Given the description of an element on the screen output the (x, y) to click on. 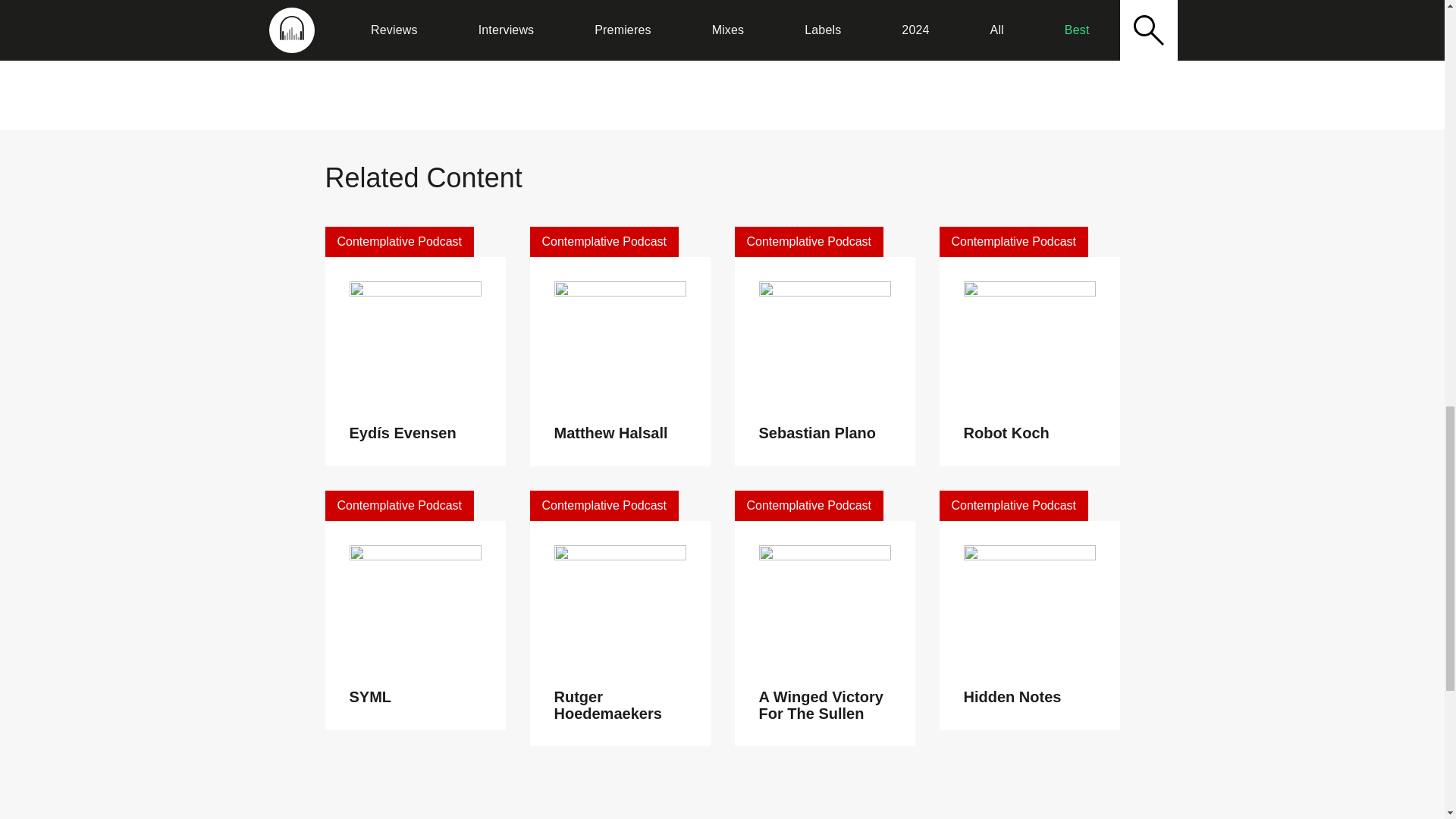
Contemplative Podcast (1013, 241)
Contemplative Podcast (603, 241)
here (823, 47)
Contemplative Podcast (808, 241)
Contemplative Podcast (603, 505)
Contemplative Podcast (399, 241)
Matthew Halsall (609, 433)
Contemplative Podcast (399, 505)
SYML (370, 696)
Contemplative Podcast (808, 505)
Robot Koch (1005, 433)
Sebastian Plano (817, 433)
Rutger Hoedemaekers (607, 704)
